Given the description of an element on the screen output the (x, y) to click on. 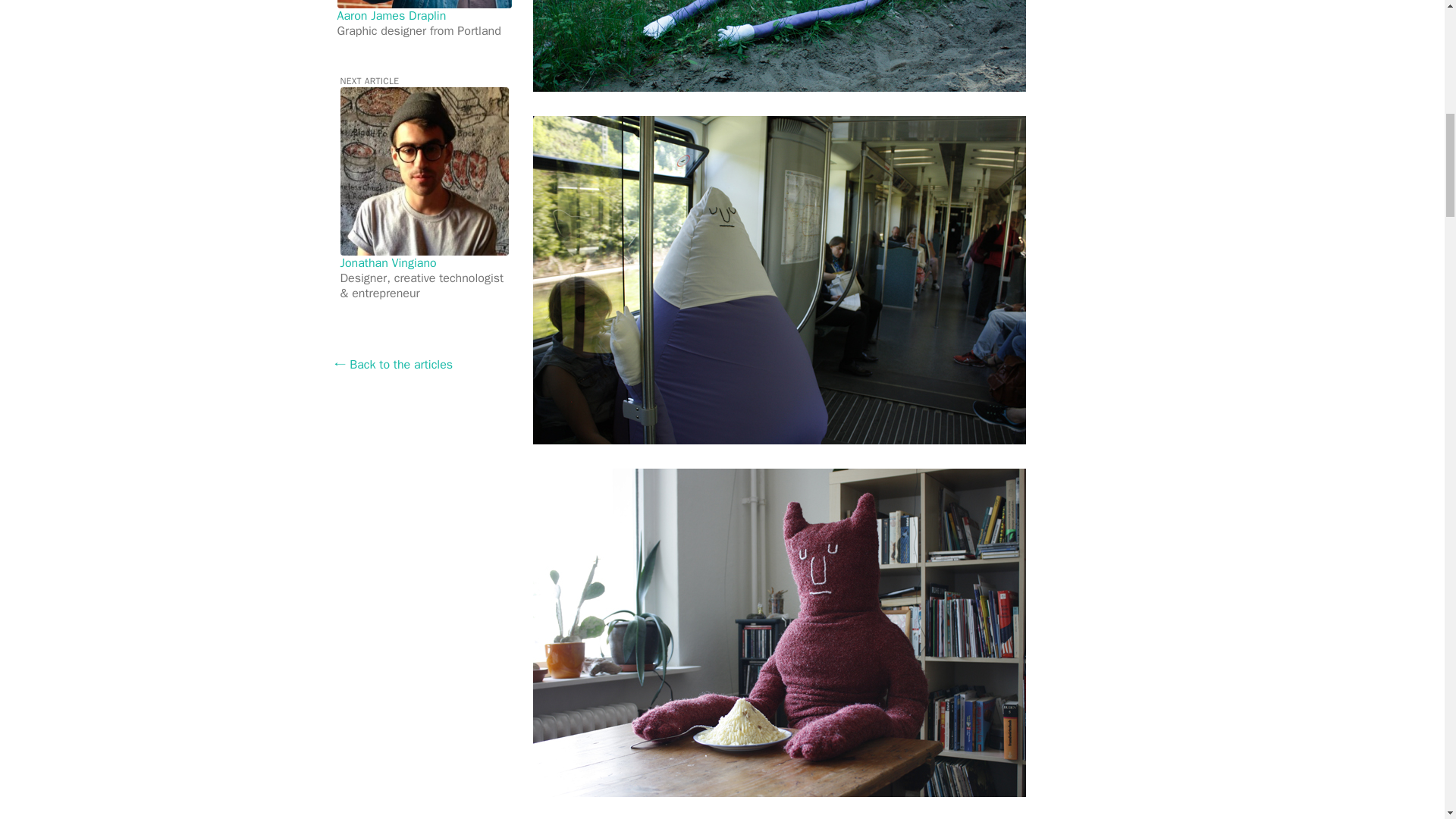
Jonathan Vingiano (387, 263)
Aaron James Draplin (390, 15)
